Given the description of an element on the screen output the (x, y) to click on. 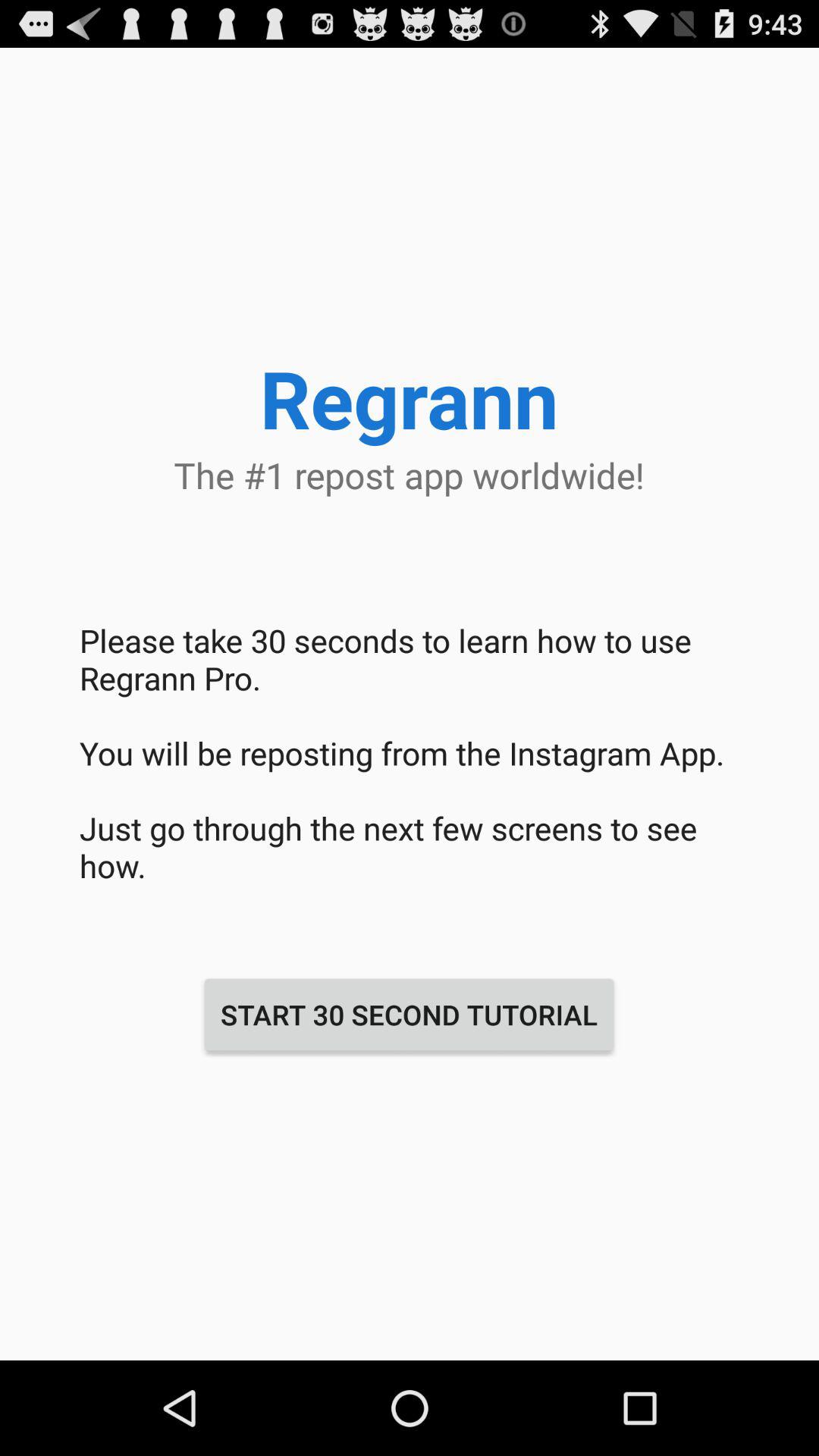
tap start 30 second item (408, 1014)
